Given the description of an element on the screen output the (x, y) to click on. 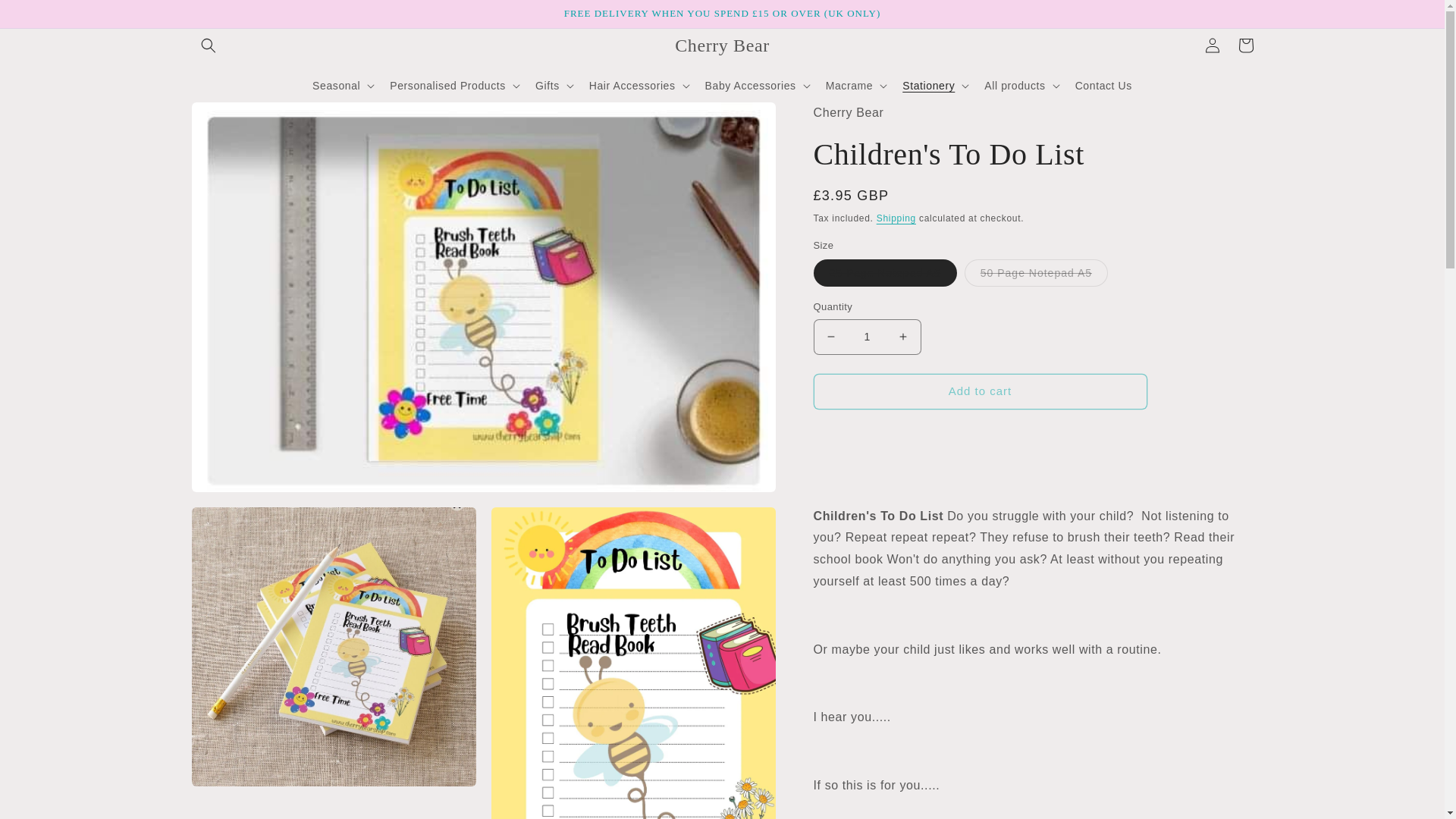
Skip to content (45, 17)
1 (866, 336)
